Given the description of an element on the screen output the (x, y) to click on. 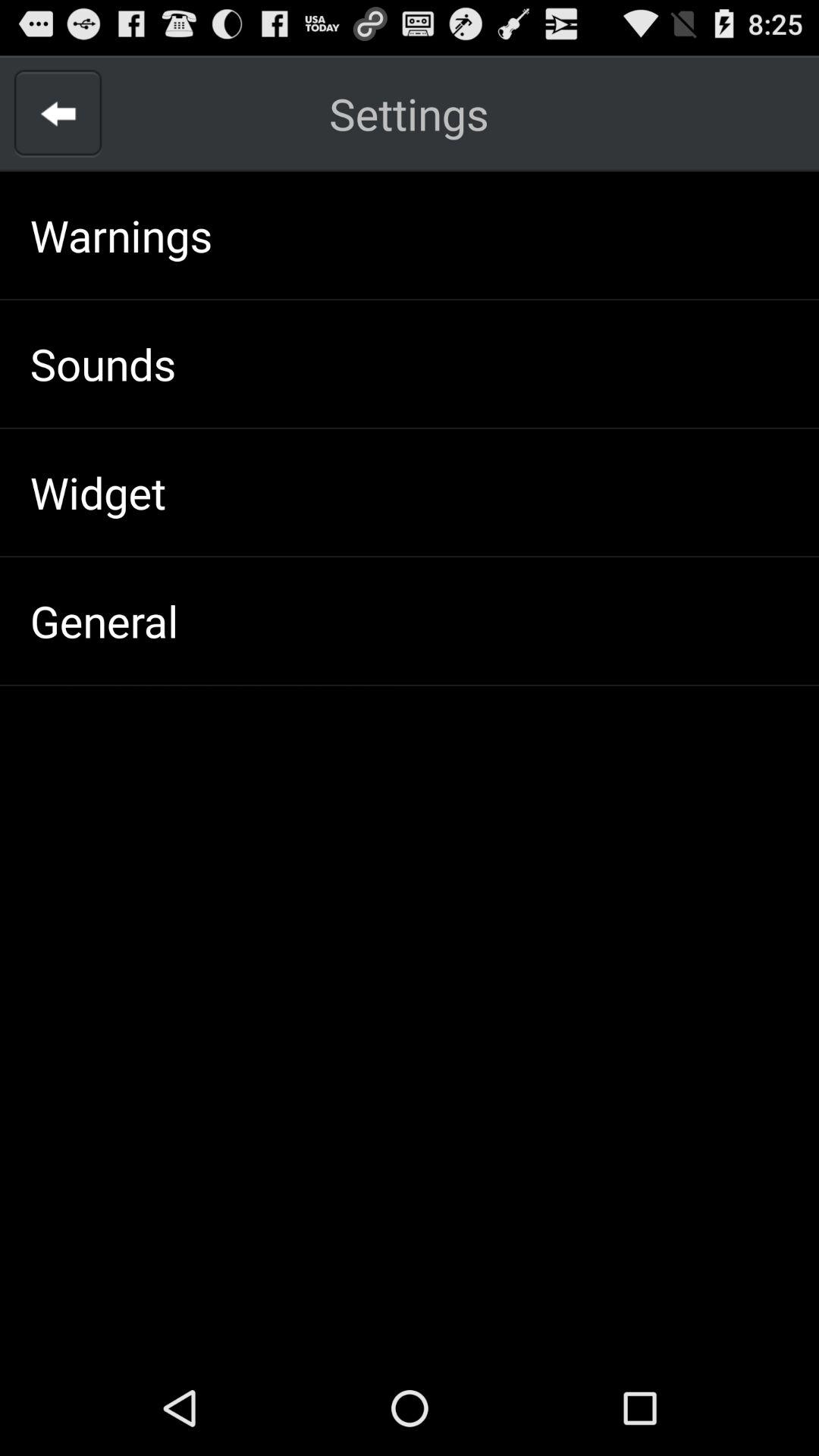
select the app above the warnings item (57, 113)
